Given the description of an element on the screen output the (x, y) to click on. 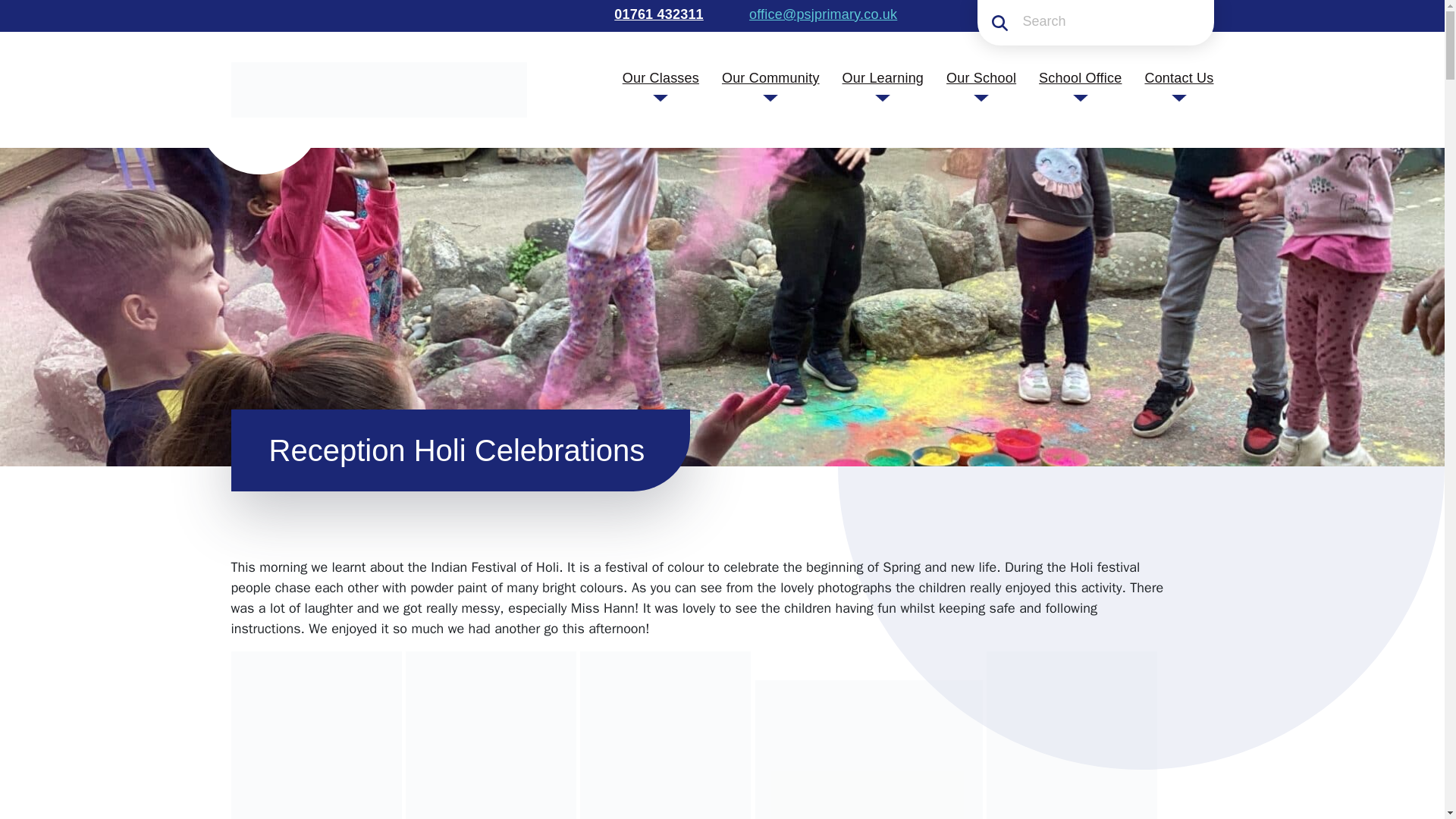
Our Learning (883, 77)
Our Classes (660, 77)
01761 432311 (656, 14)
Our School (981, 77)
Our Community (770, 77)
Our Community (770, 77)
Our Classes (660, 77)
